Given the description of an element on the screen output the (x, y) to click on. 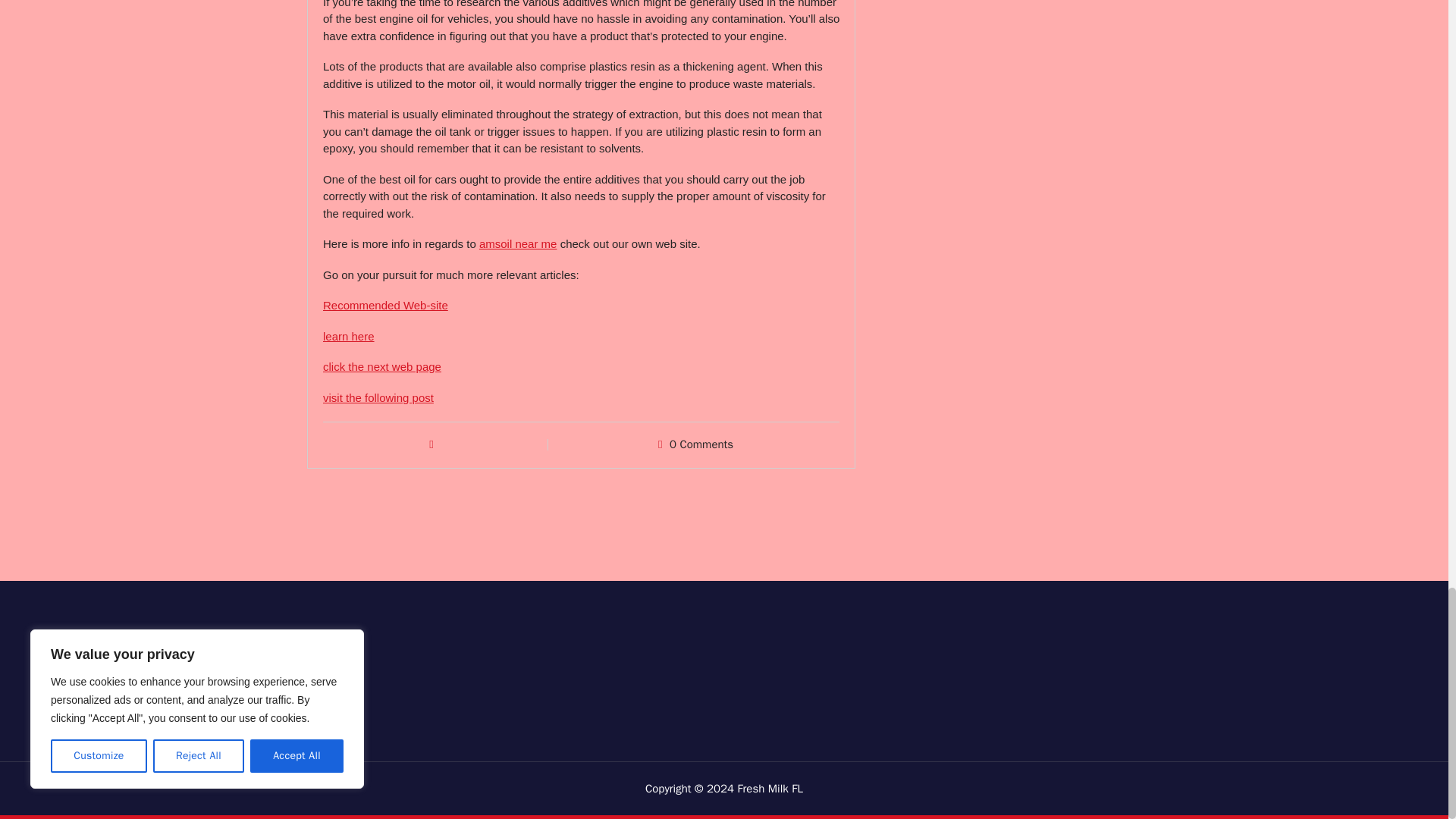
learn here (348, 336)
Recommended Web-site (385, 305)
click the next web page (382, 366)
amsoil near me (518, 243)
